Given the description of an element on the screen output the (x, y) to click on. 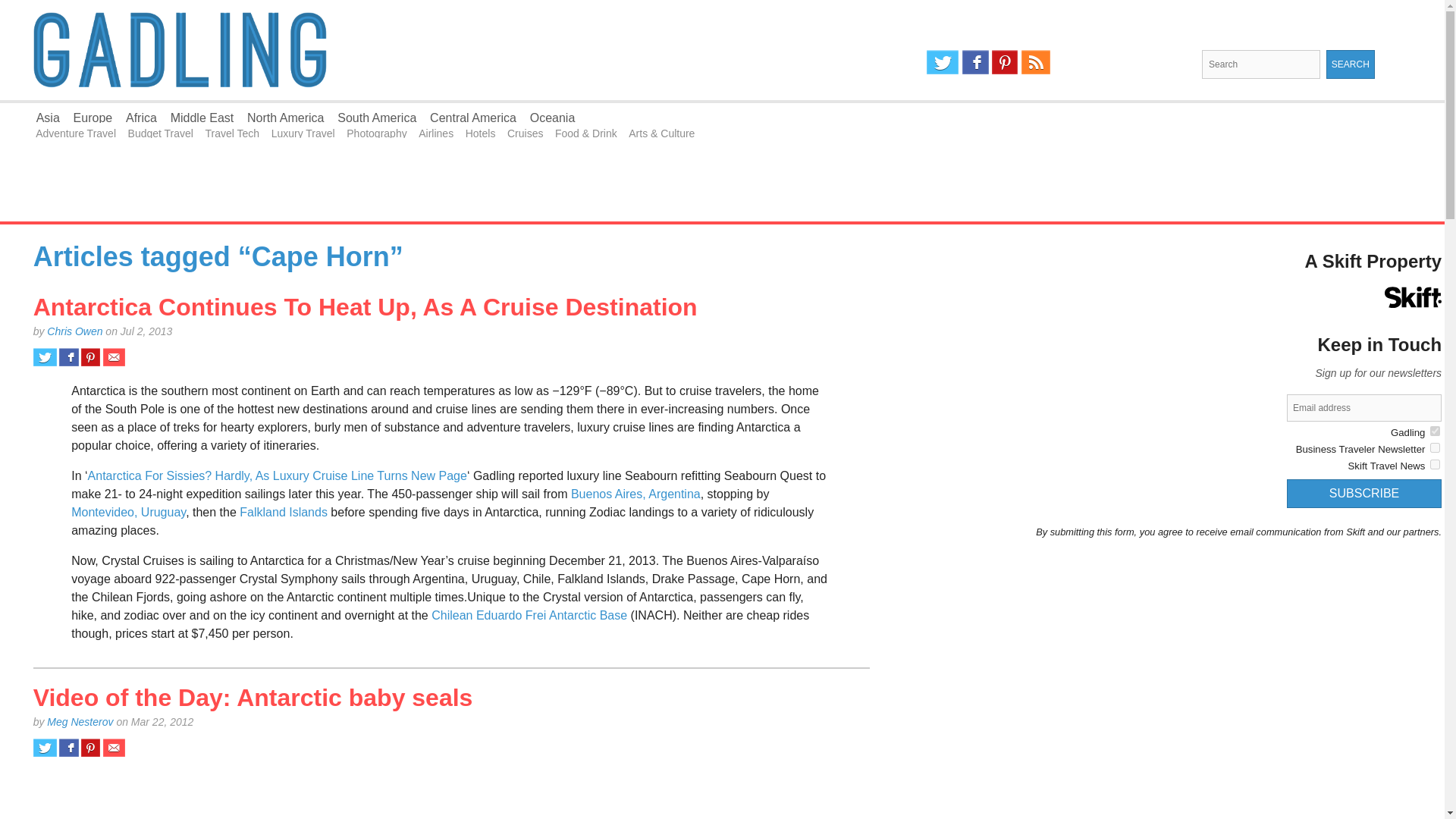
Oceania (552, 117)
Share on Twitter (44, 747)
Gadling (360, 49)
Video of the Day: Antarctic baby seals (253, 697)
256 (1434, 430)
Luxury Travel (302, 133)
Central America (472, 117)
Adventure Travel (75, 133)
Middle East (202, 117)
Search (1350, 63)
Budget Travel (160, 133)
1 (1434, 464)
Pinterest (1004, 61)
Meg Nesterov (79, 721)
North America (285, 117)
